Given the description of an element on the screen output the (x, y) to click on. 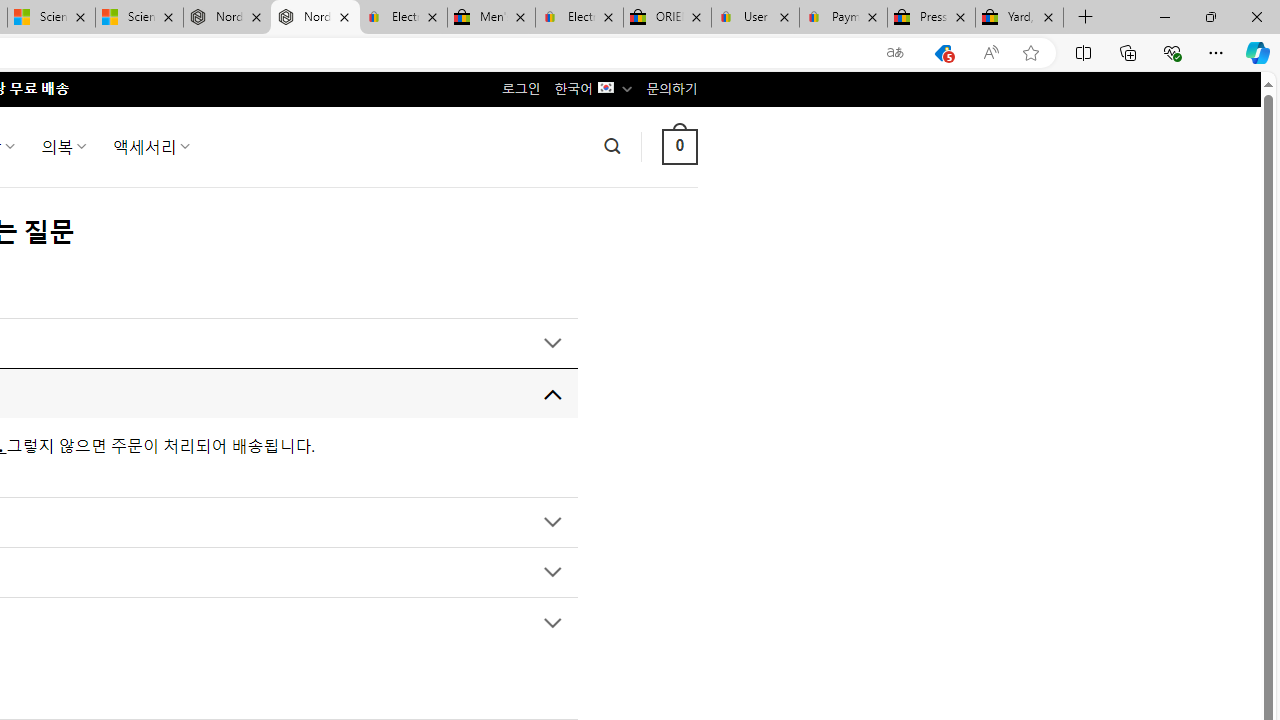
Yard, Garden & Outdoor Living (1019, 17)
Show translate options (895, 53)
Nordace - Summer Adventures 2024 (227, 17)
